Given the description of an element on the screen output the (x, y) to click on. 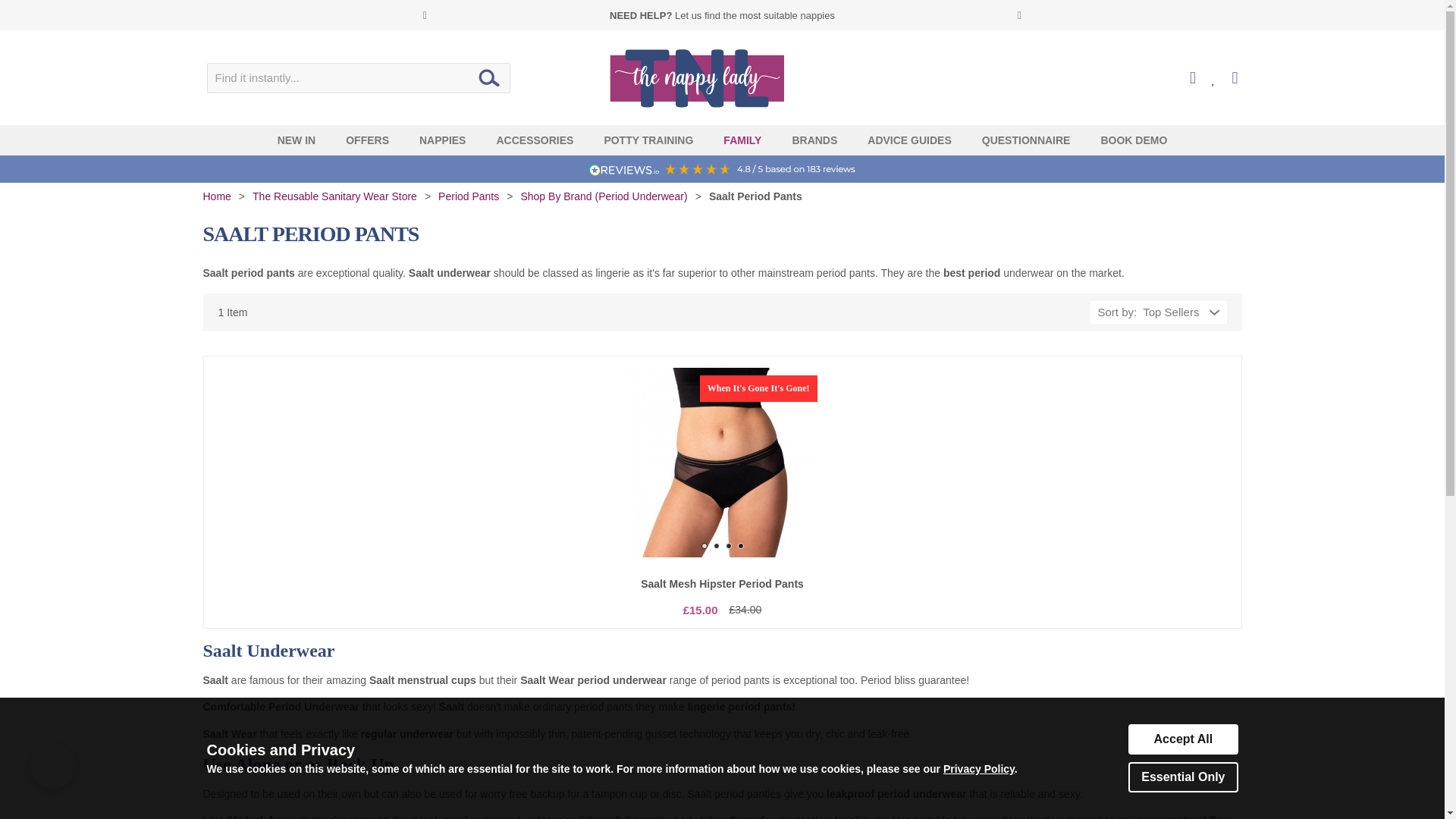
Go (488, 77)
Go (488, 77)
OFFERS (367, 140)
NEED HELP? Let us find the most suitable nappies (722, 14)
NAPPIES (442, 140)
NEW IN (296, 140)
Go (488, 77)
